Given the description of an element on the screen output the (x, y) to click on. 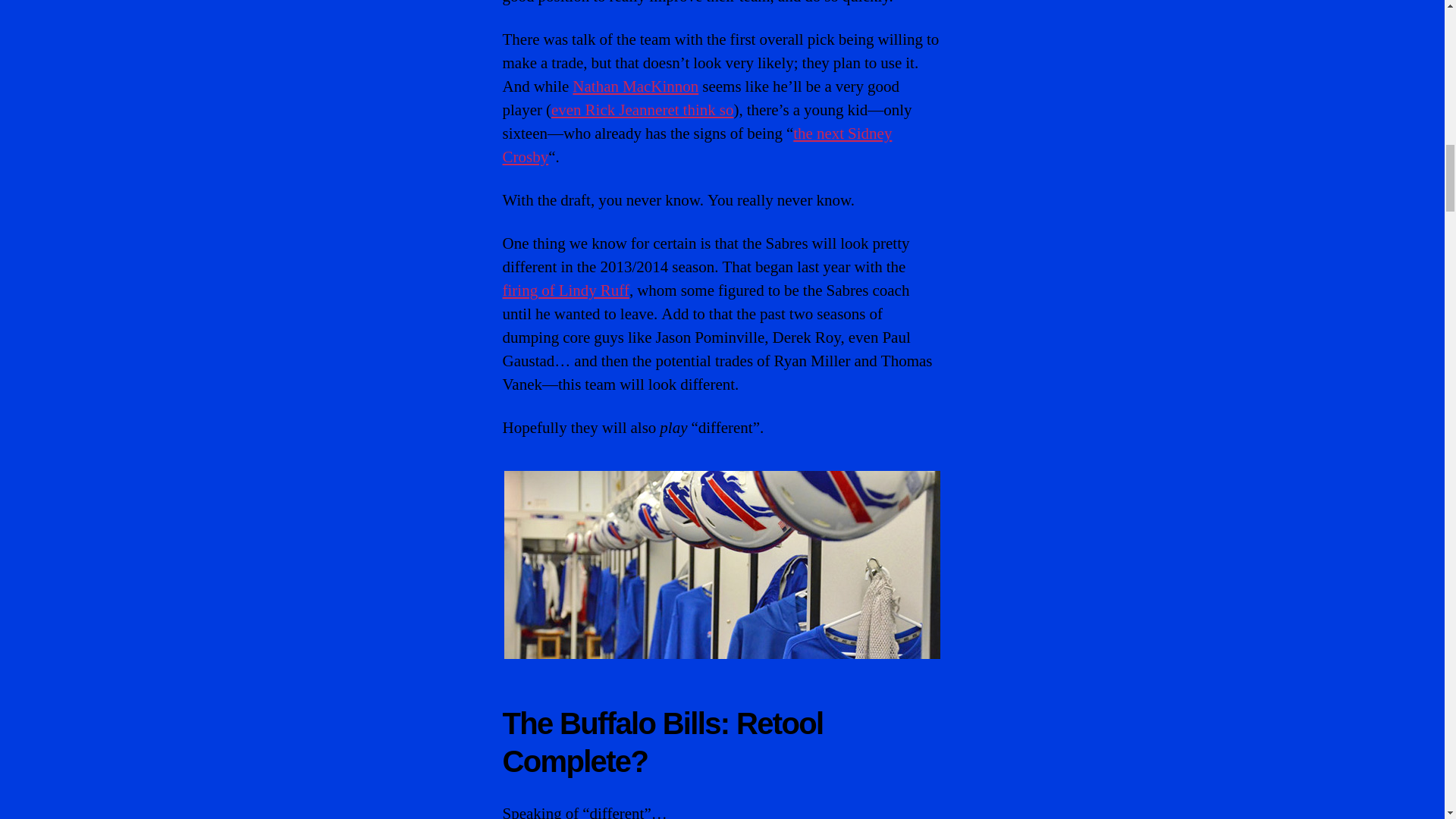
even Rick Jeanneret think so (642, 109)
Nathan MacKinnon - The Next Sidney Crosby? (635, 86)
Nathan MacKinnon (635, 86)
Connor McDavid - The Next Sidney Crosby? (696, 145)
the next Sidney Crosby (696, 145)
End Of The Lindy Line (565, 290)
firing of Lindy Ruff (565, 290)
